Given the description of an element on the screen output the (x, y) to click on. 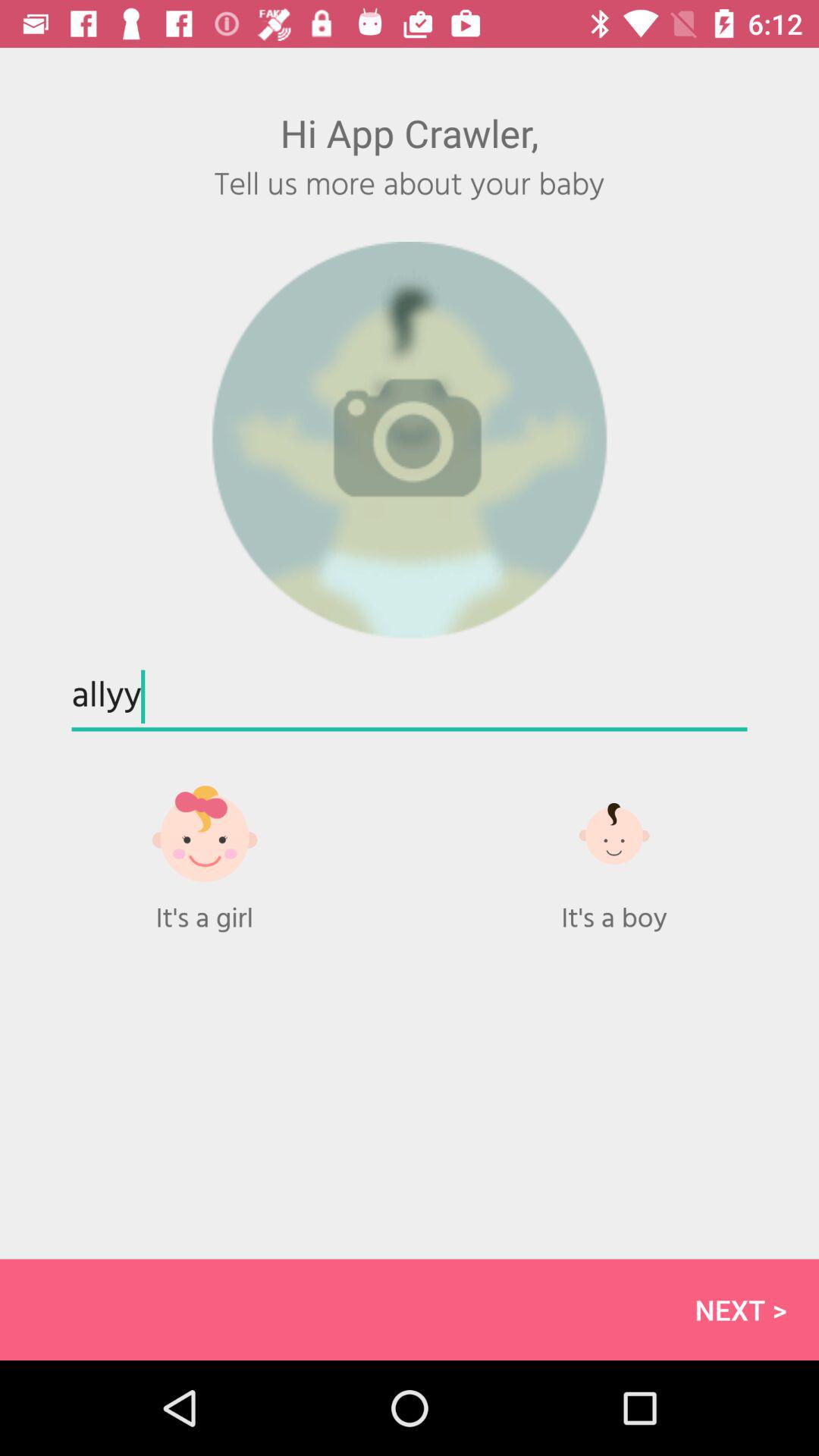
turn camera on (409, 440)
